Given the description of an element on the screen output the (x, y) to click on. 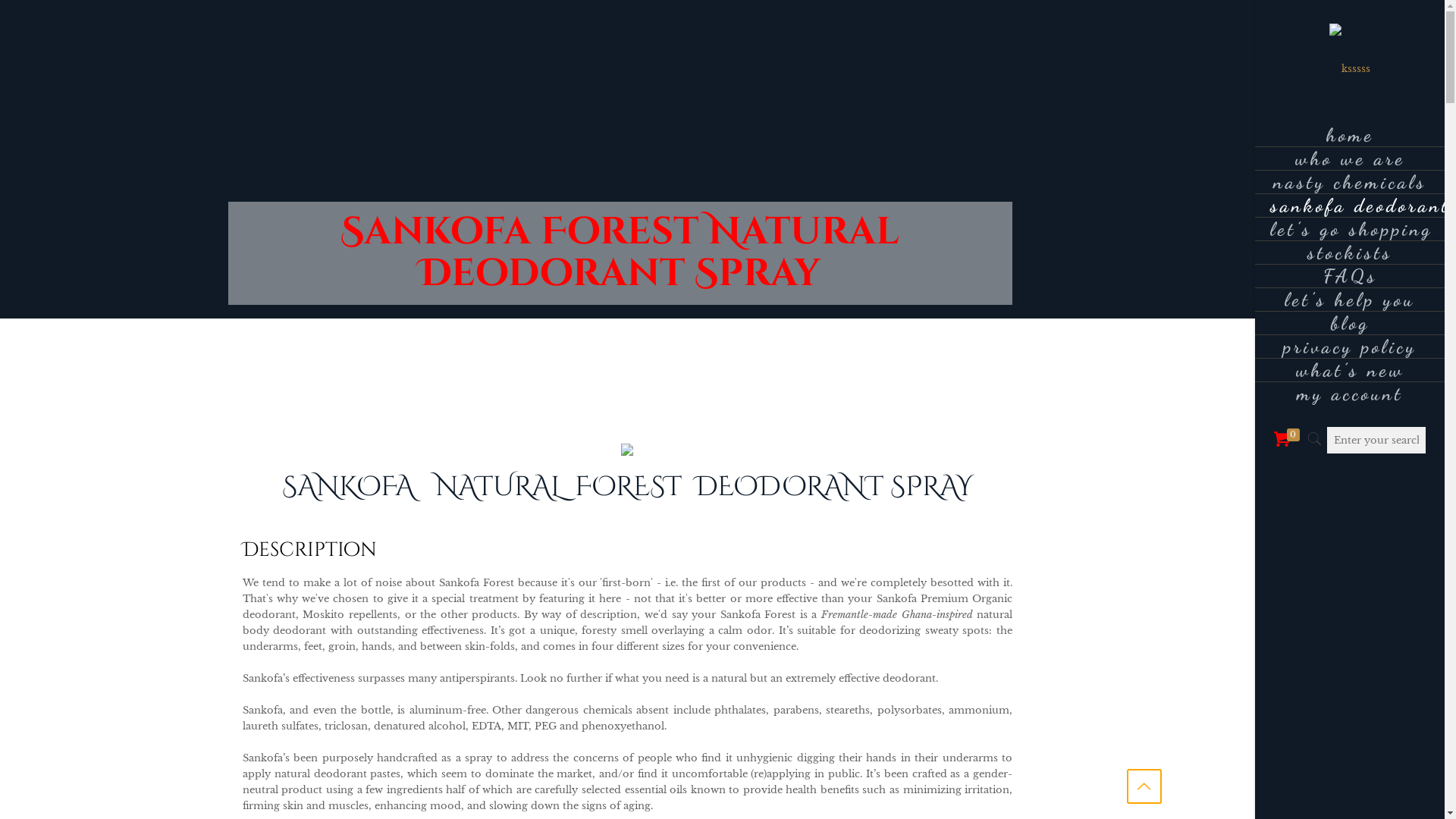
my account Element type: text (1349, 393)
privacy policy Element type: text (1349, 346)
who we are Element type: text (1349, 158)
blog Element type: text (1349, 323)
FAQs Element type: text (1349, 276)
nasty chemicals Element type: text (1349, 182)
0 Element type: text (1288, 439)
home Element type: text (1349, 135)
stockists Element type: text (1349, 252)
sankofa deodorant Element type: text (1349, 205)
Dr. KwasiO Element type: hover (1349, 68)
